Given the description of an element on the screen output the (x, y) to click on. 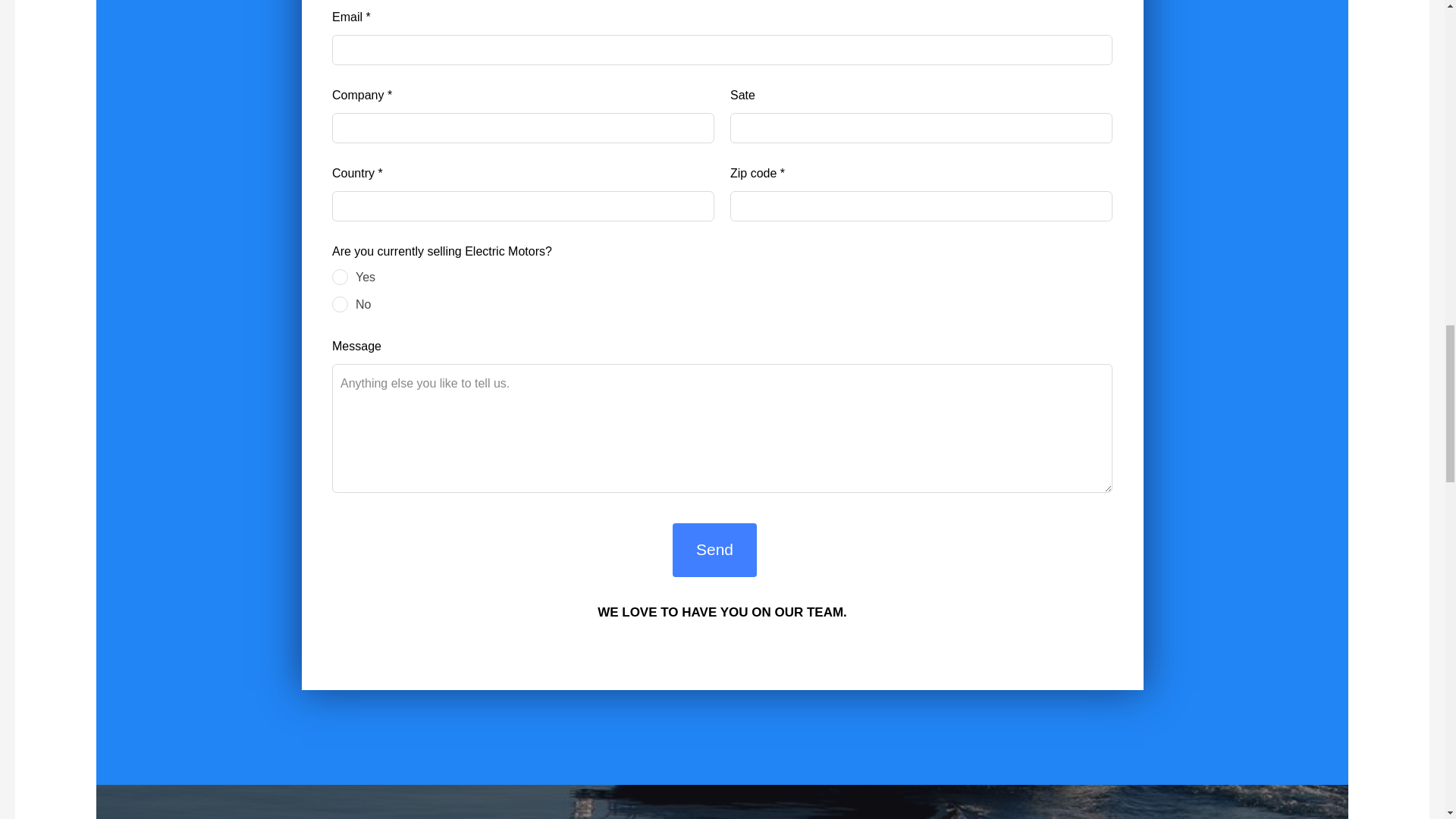
Send (714, 550)
